Given the description of an element on the screen output the (x, y) to click on. 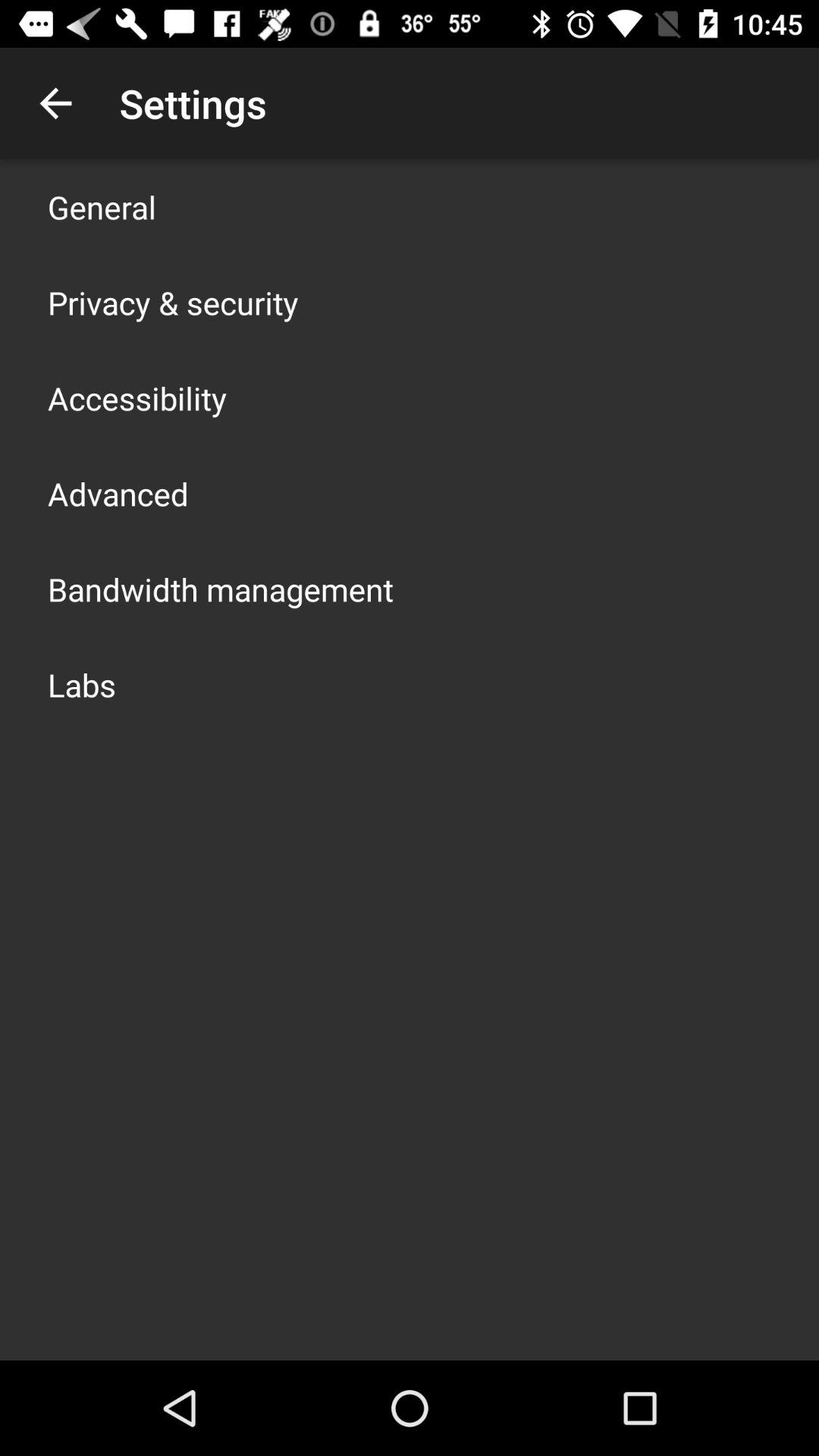
choose advanced app (117, 493)
